Given the description of an element on the screen output the (x, y) to click on. 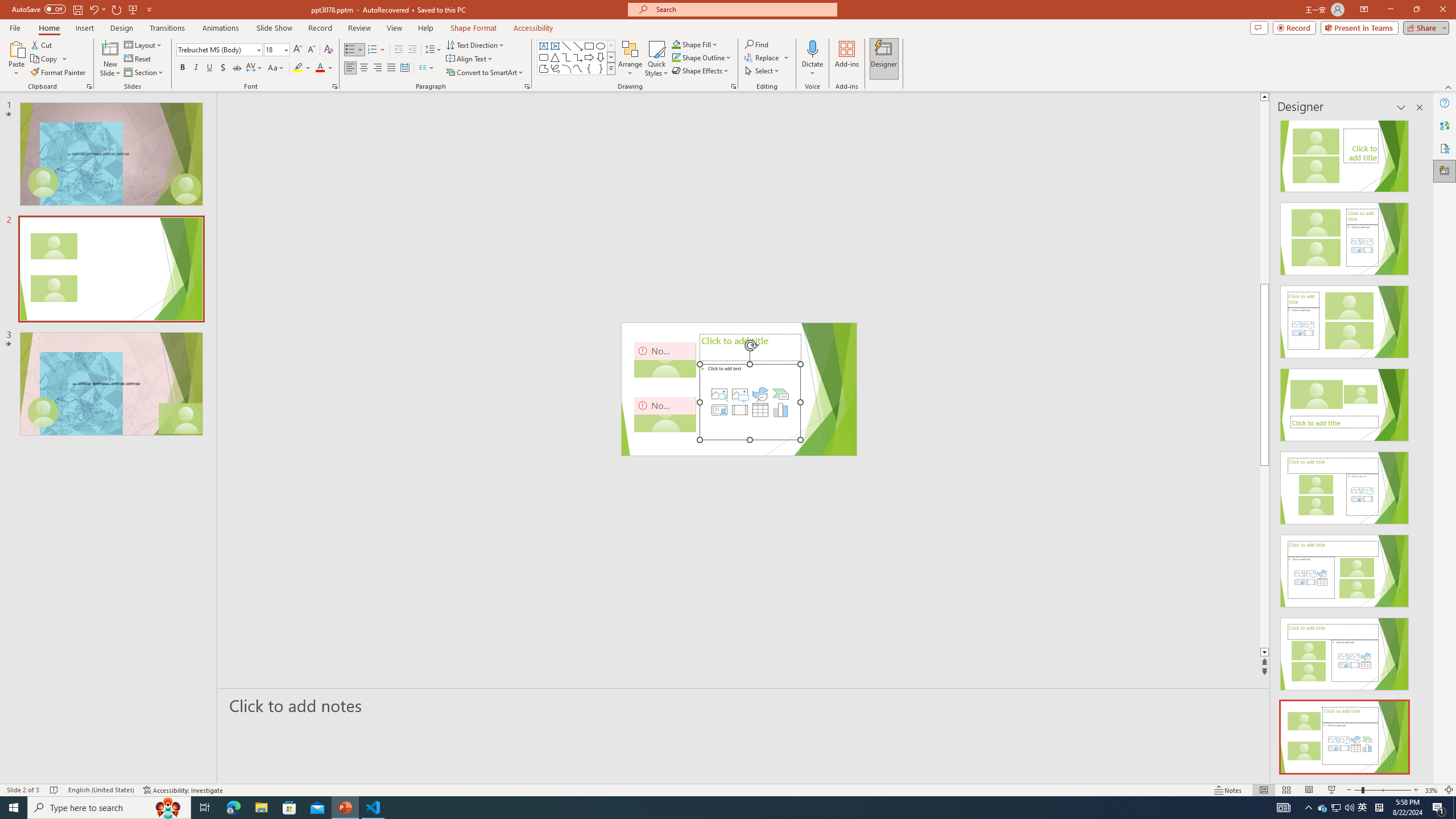
Insert Chart (780, 409)
Pictures (739, 394)
Camera 5, No camera detected. (665, 413)
